Given the description of an element on the screen output the (x, y) to click on. 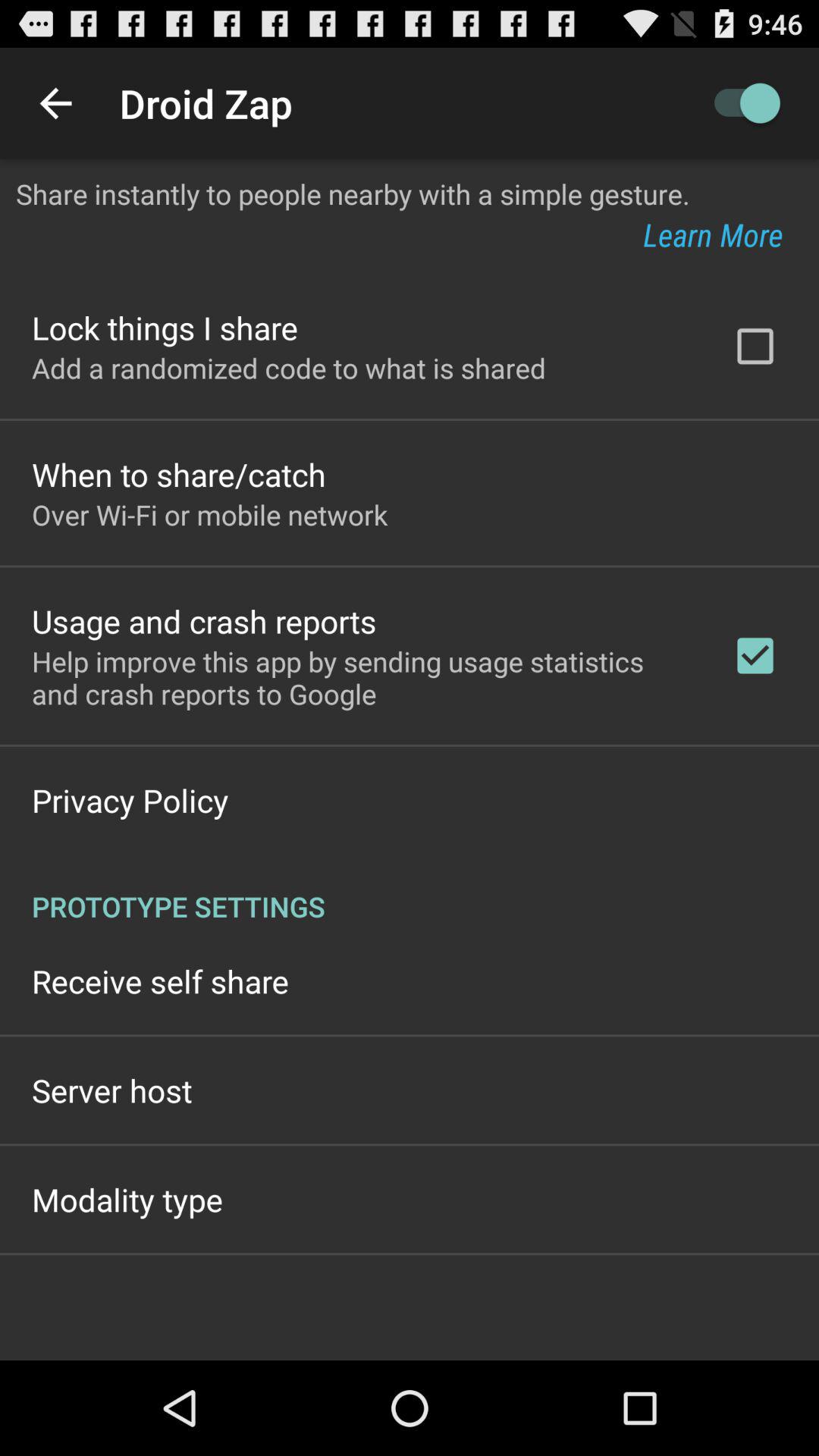
jump to modality type item (126, 1199)
